Given the description of an element on the screen output the (x, y) to click on. 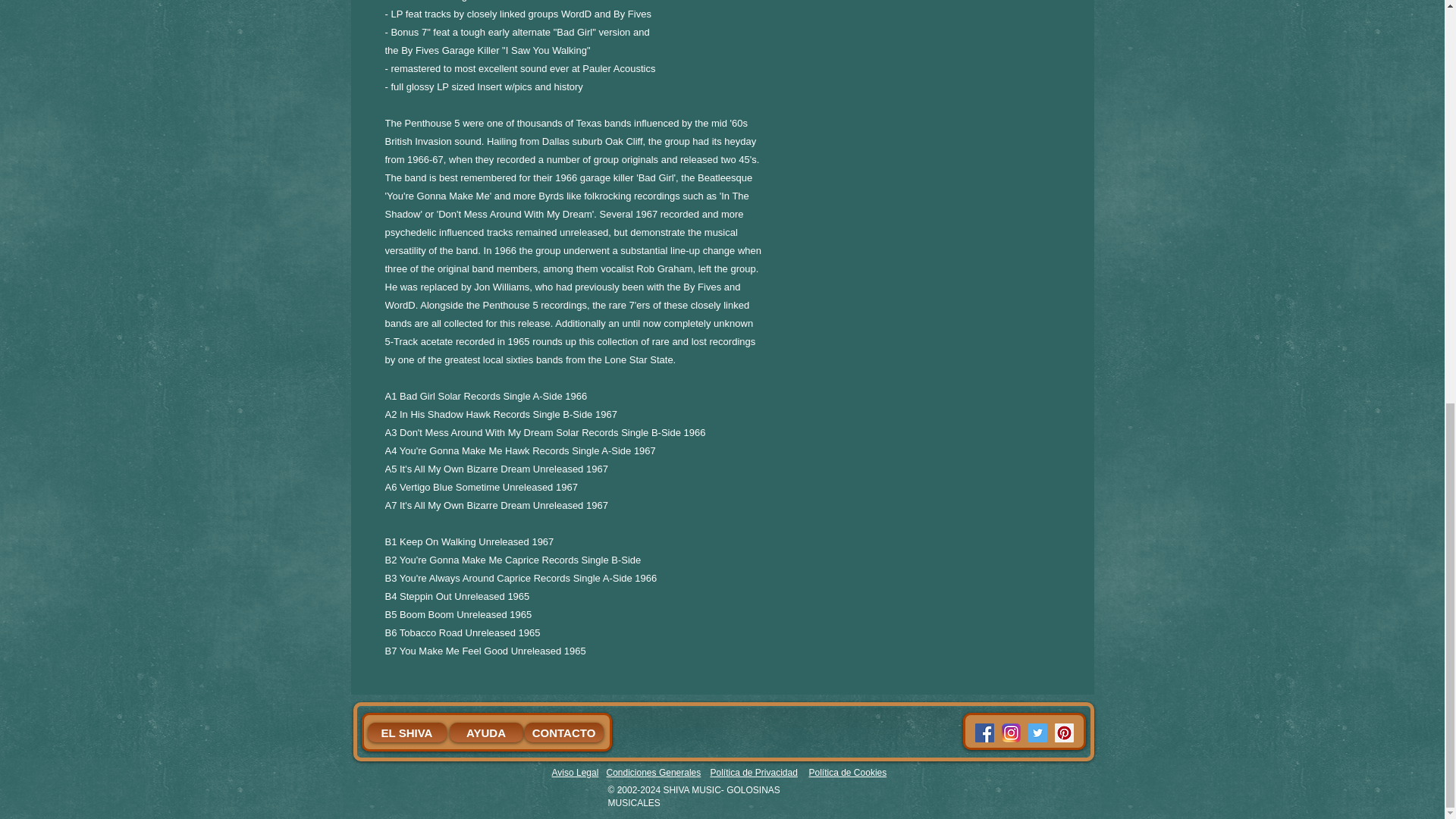
Condiciones Generales (654, 772)
EL SHIVA (405, 732)
Aviso Legal (574, 772)
AYUDA (485, 732)
CONTACTO (564, 732)
